Given the description of an element on the screen output the (x, y) to click on. 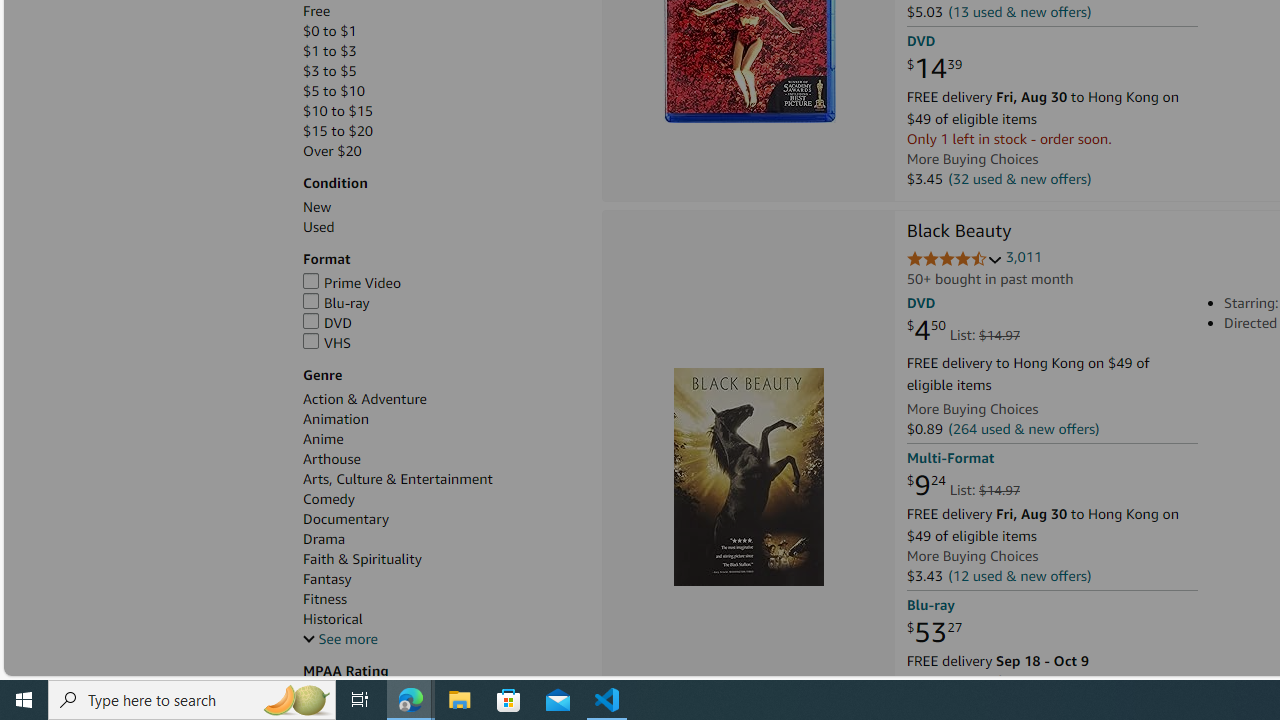
(13 used & new offers) (1019, 12)
New (317, 207)
Animation (335, 419)
$53.27 (934, 632)
$0 to $1 (442, 31)
Fantasy (327, 579)
See more (442, 639)
Prime Video (442, 283)
Arts, Culture & Entertainment (442, 479)
Drama (324, 538)
Blu-ray (442, 303)
Black Beauty (959, 232)
Comedy (442, 499)
3,011 (1023, 257)
Drama (442, 539)
